Given the description of an element on the screen output the (x, y) to click on. 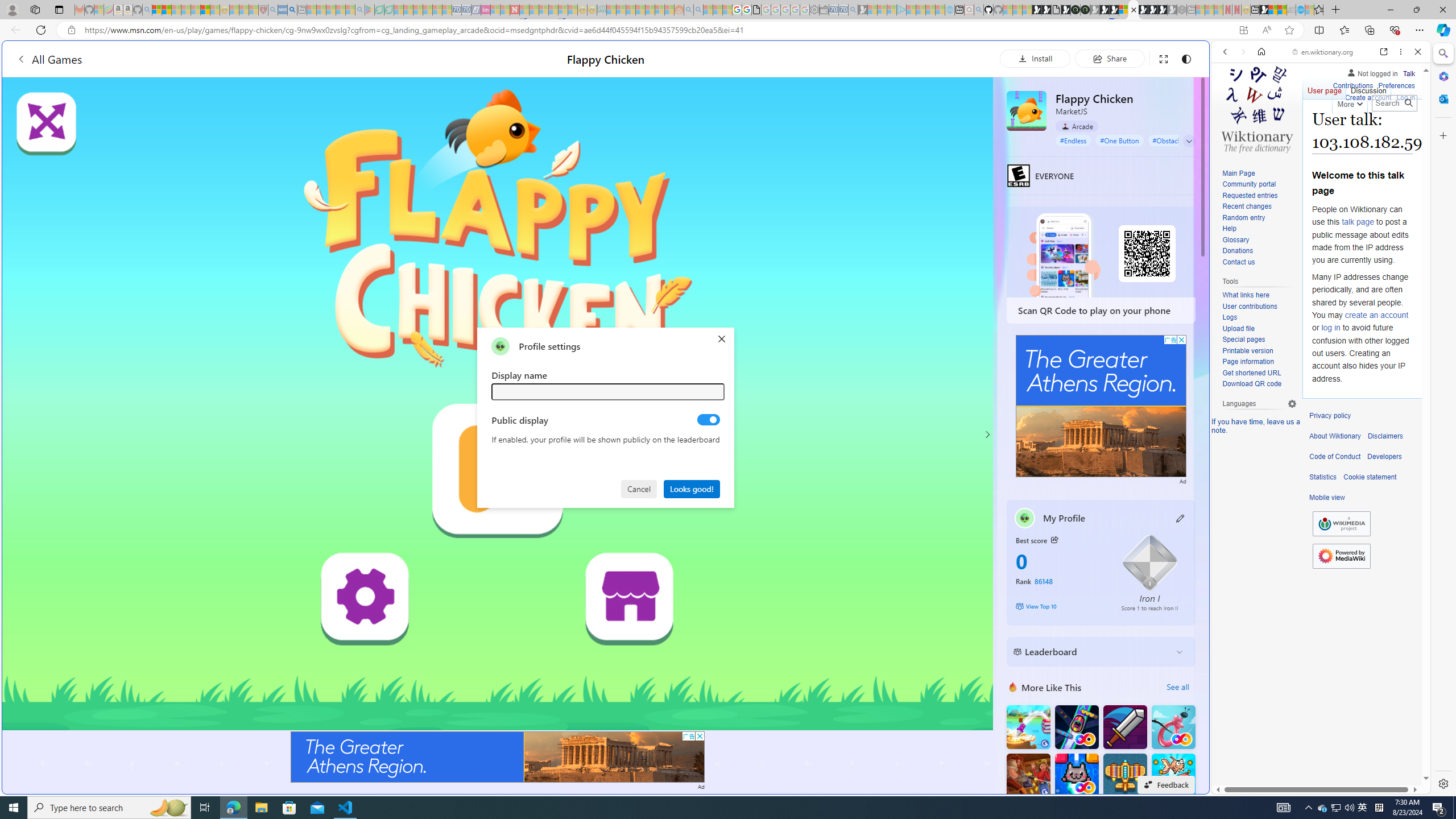
Community portal (1248, 184)
Settings - Sleeping (814, 9)
Go (1408, 102)
create an account (1376, 314)
Create account (1367, 98)
Logs (1229, 317)
Donations (1237, 250)
